Given the description of an element on the screen output the (x, y) to click on. 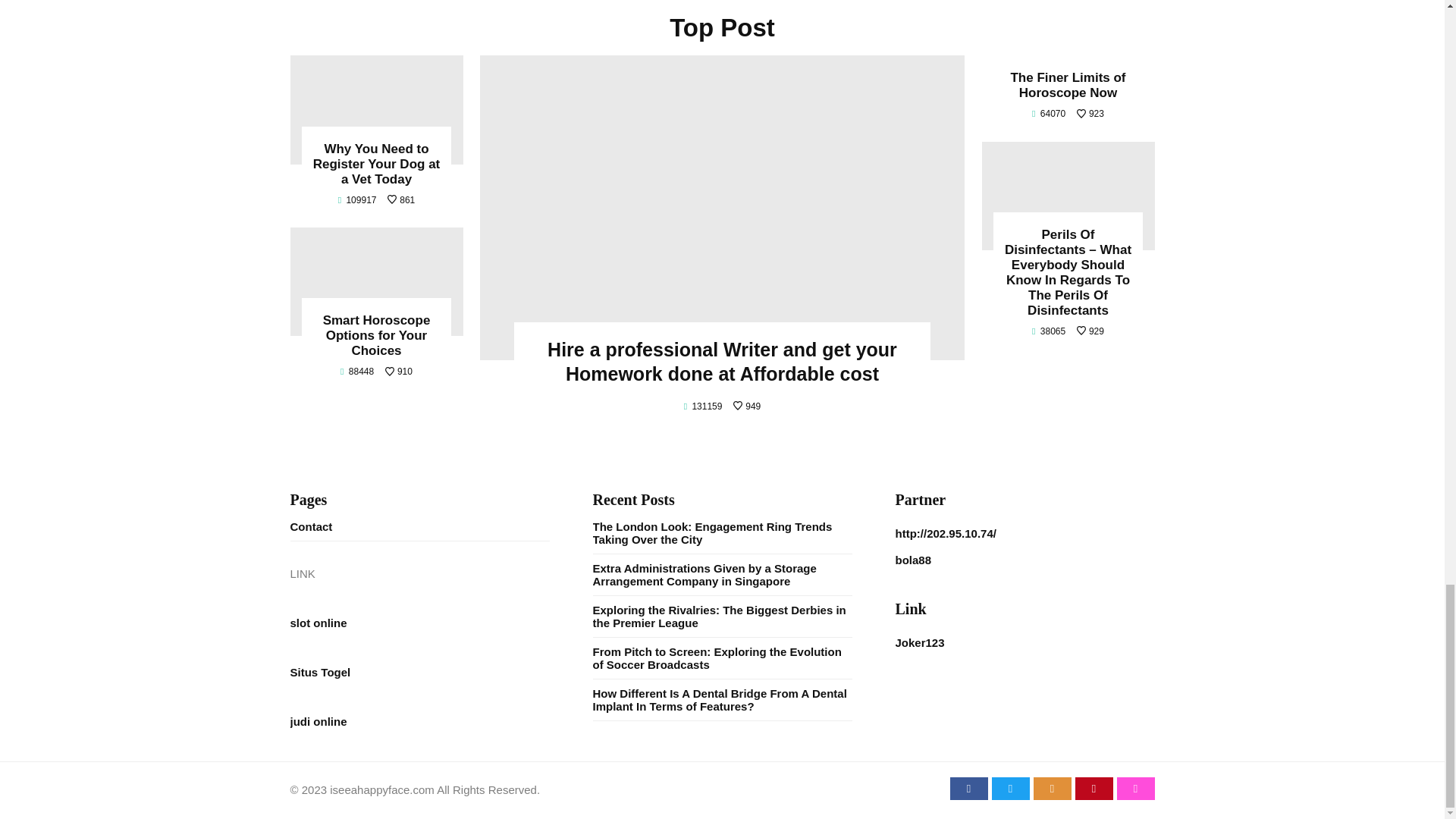
Like (1090, 330)
Like (1090, 113)
Like (398, 371)
Like (400, 199)
Like (746, 406)
